Given the description of an element on the screen output the (x, y) to click on. 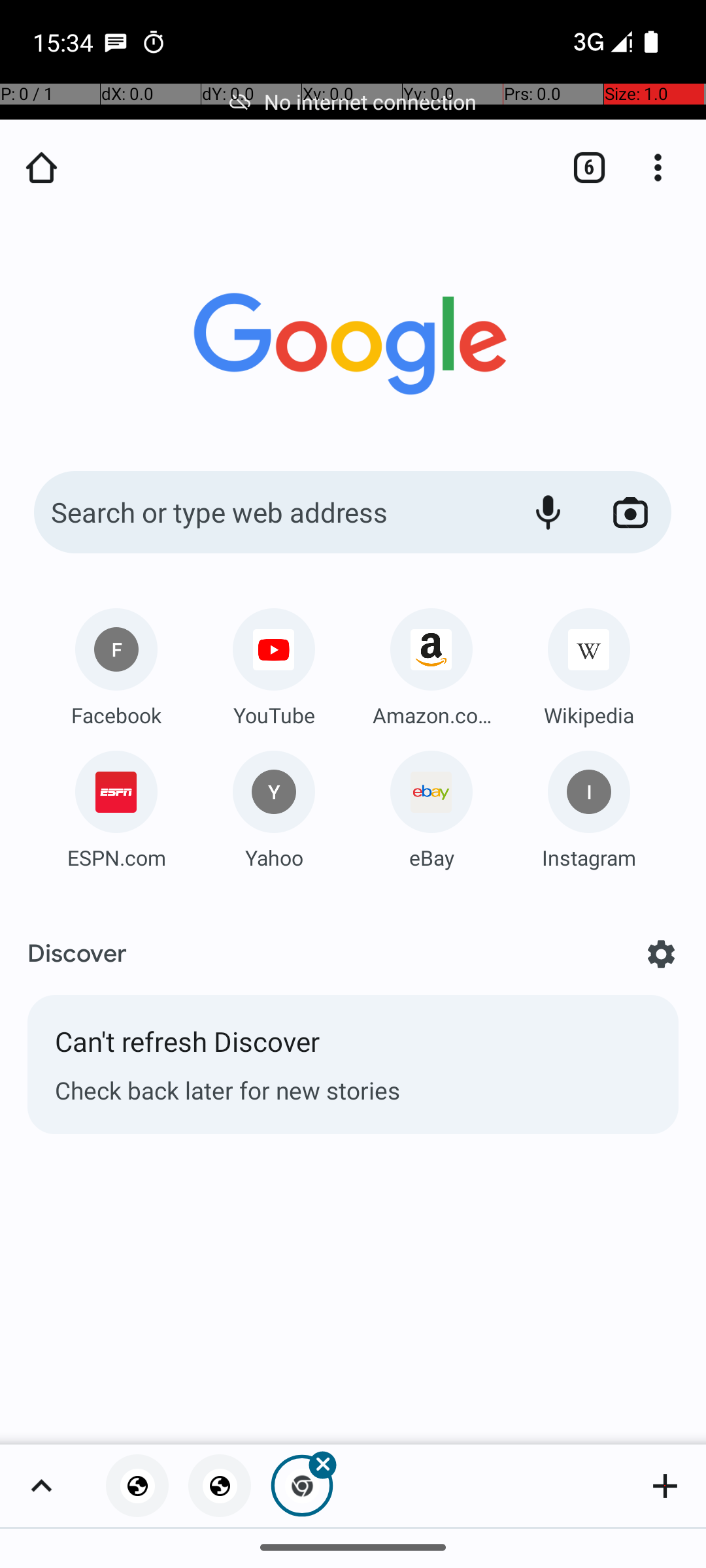
Connection Help, tab Element type: android.widget.ImageButton (219, 1485)
Close New tab tab Element type: android.widget.ImageButton (301, 1485)
